Given the description of an element on the screen output the (x, y) to click on. 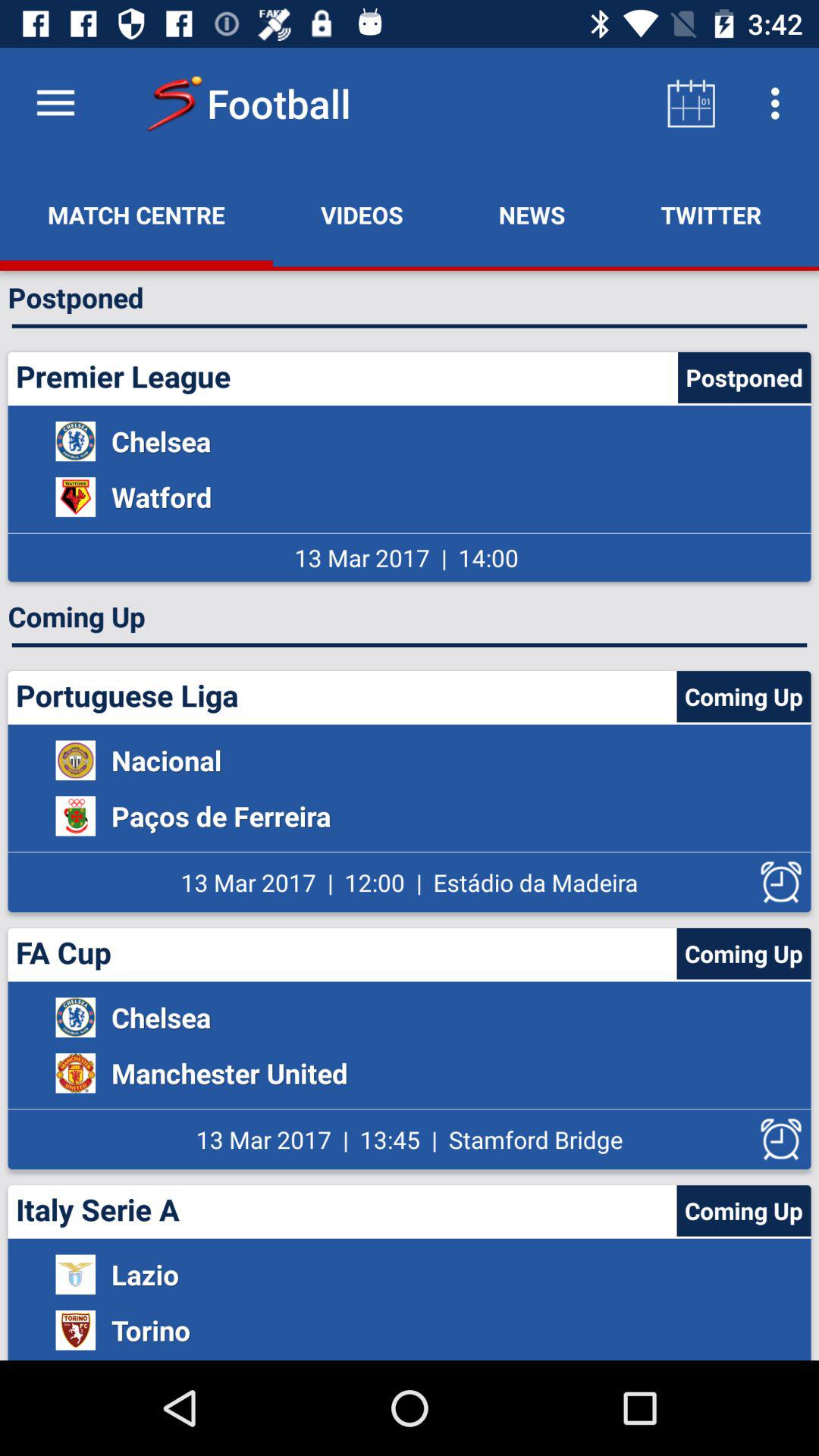
tap videos (362, 214)
